Given the description of an element on the screen output the (x, y) to click on. 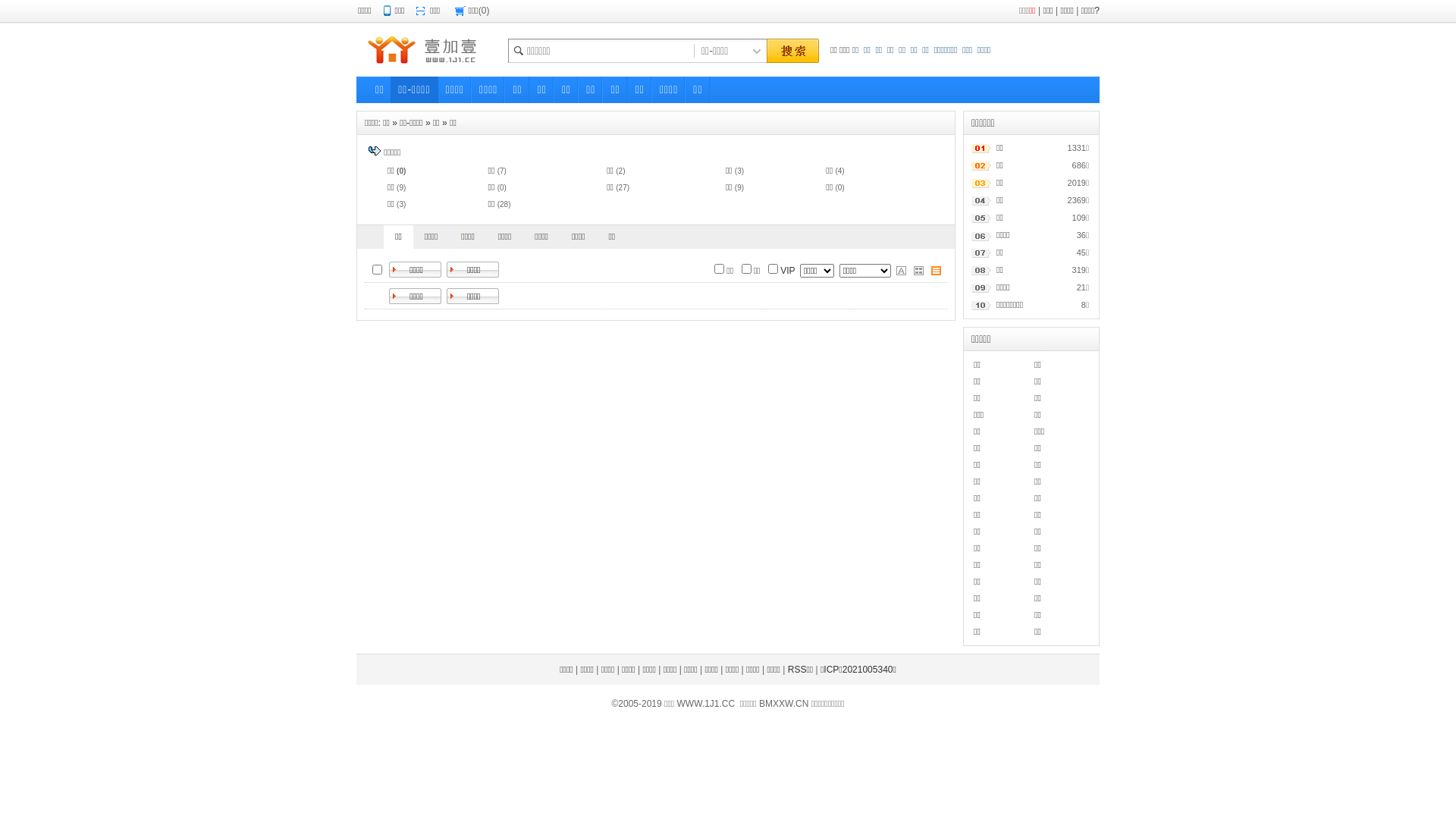
on Element type: text (746, 268)
on Element type: text (773, 268)
on Element type: text (719, 268)
on Element type: text (376, 268)
  Element type: text (792, 51)
